Given the description of an element on the screen output the (x, y) to click on. 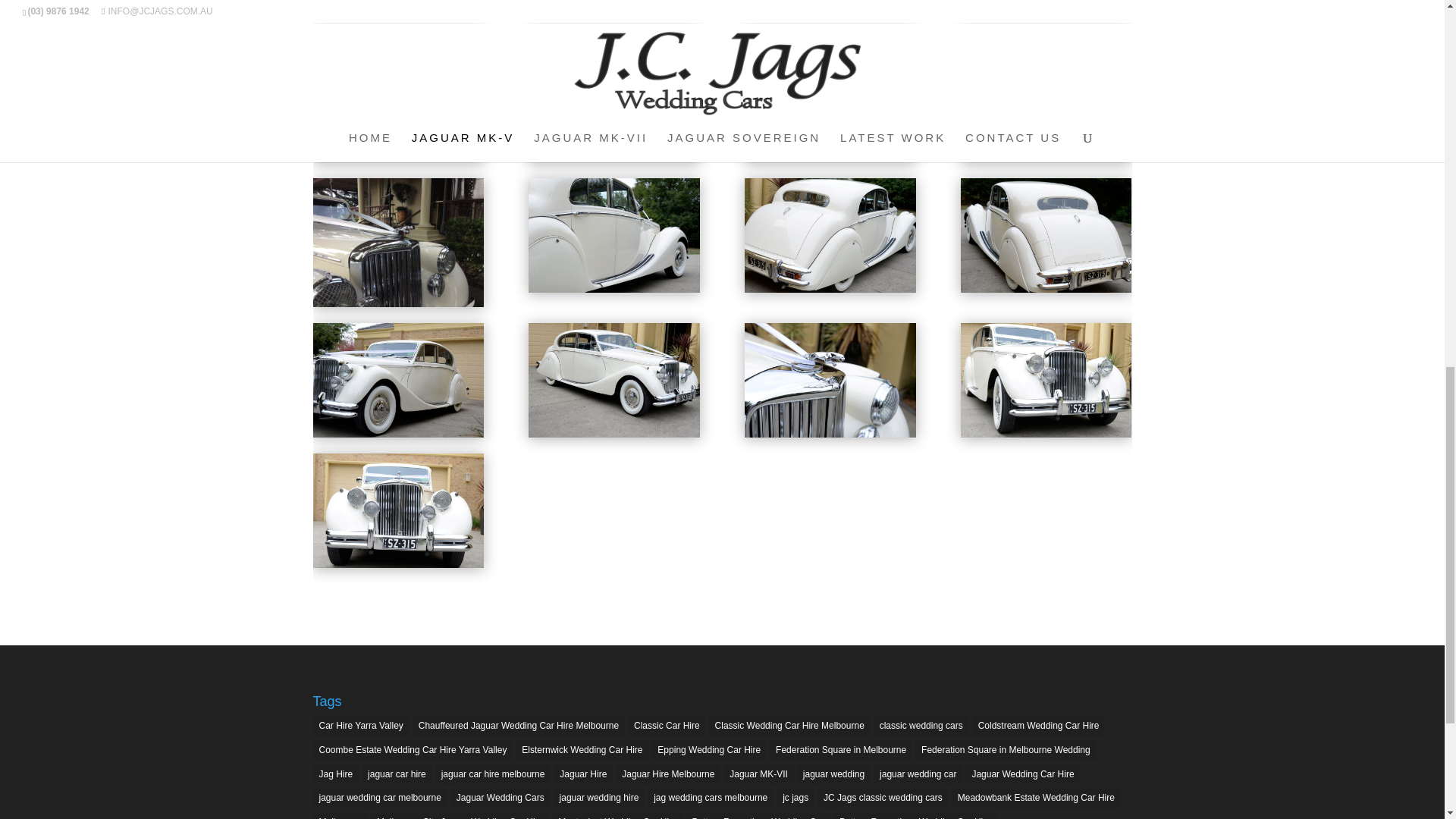
Classic Wedding Car Hire Melbourne (789, 726)
Chauffeured Jaguar Wedding Car Hire Melbourne (518, 726)
Classic Car Hire (666, 726)
classic wedding cars (921, 726)
Car Hire Yarra Valley (361, 726)
